Given the description of an element on the screen output the (x, y) to click on. 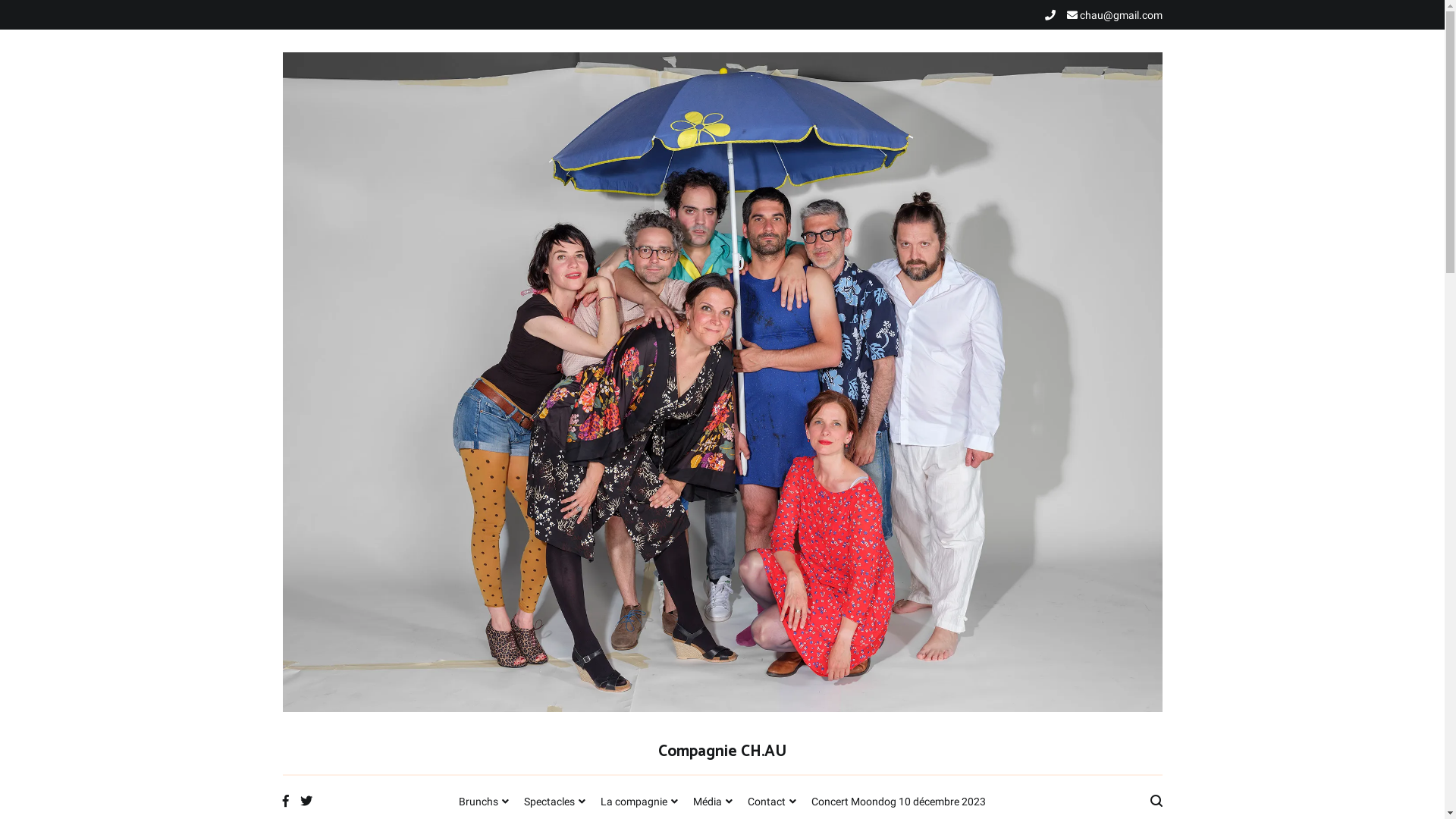
Compagnie CH.AU Element type: text (722, 751)
Rechercher Element type: text (56, 16)
chau@gmail.com Element type: text (1113, 15)
